Given the description of an element on the screen output the (x, y) to click on. 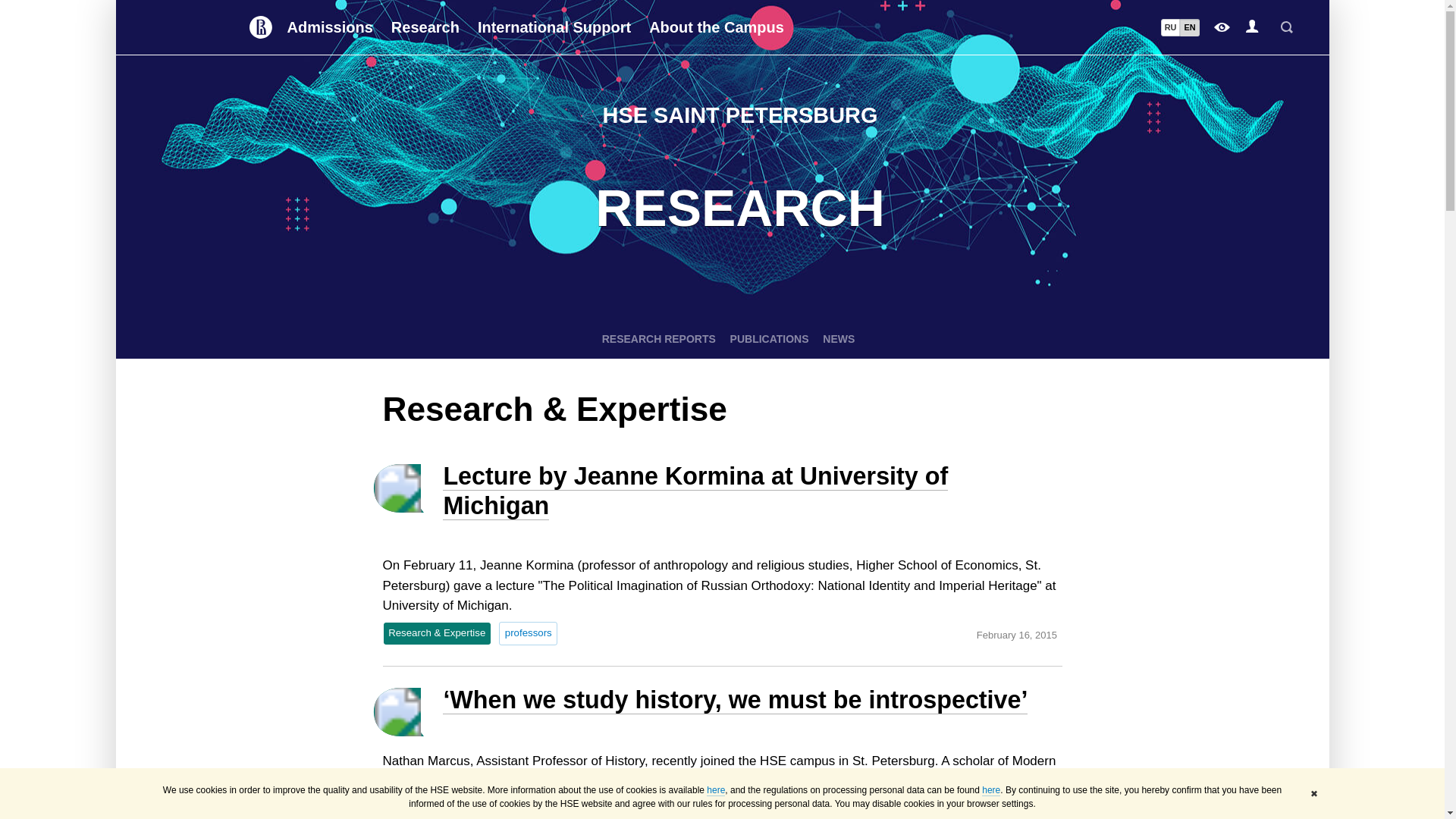
here (715, 790)
Research (425, 27)
International Support (553, 27)
Search (1286, 27)
About the Campus (716, 27)
Lecture by Jeanne Kormina at University of Michigan (694, 491)
Admissions (329, 27)
professors (528, 632)
here (990, 790)
